Given the description of an element on the screen output the (x, y) to click on. 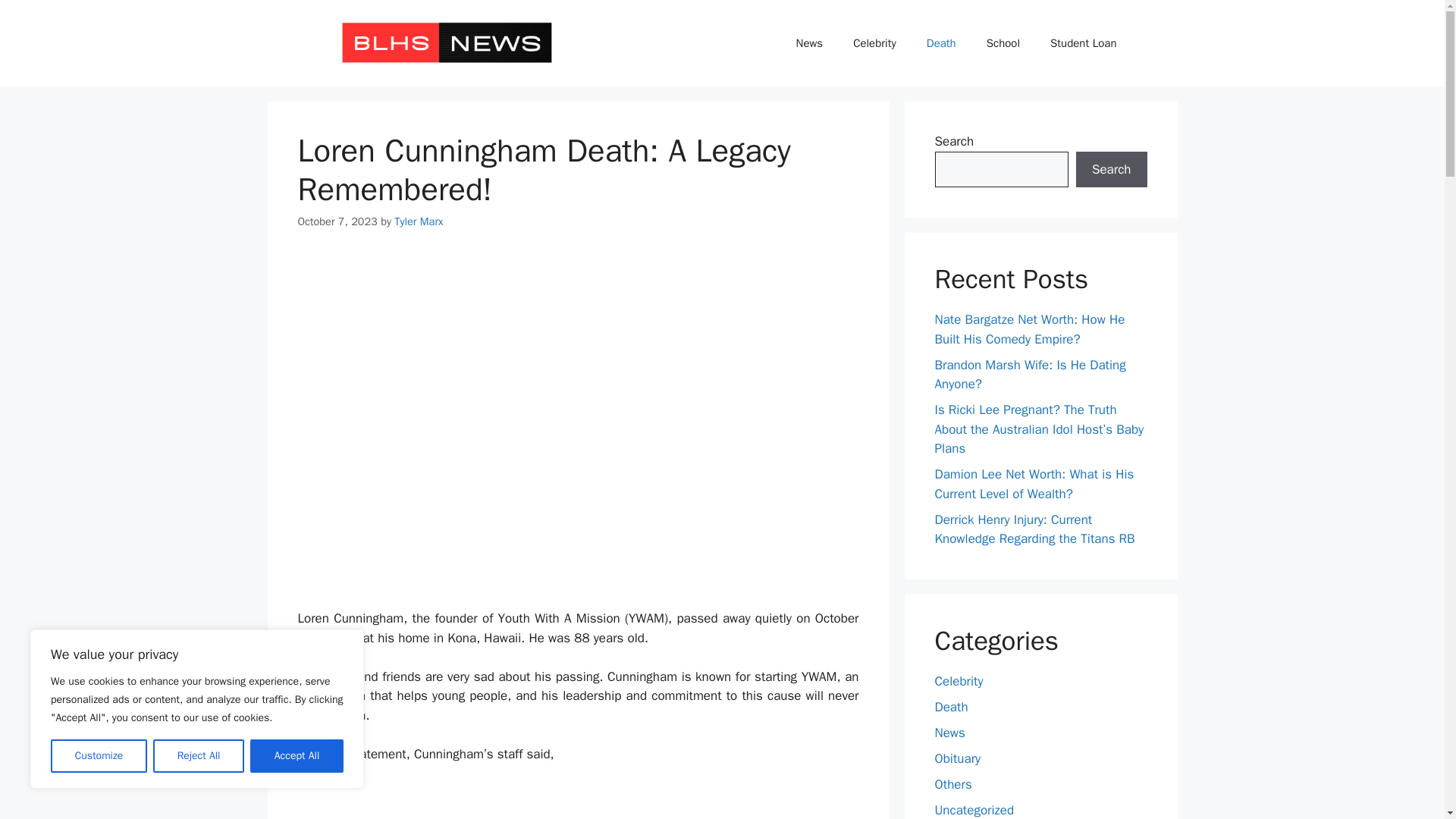
Accept All (296, 756)
Tyler Marx (418, 221)
Celebrity (874, 43)
News (809, 43)
View all posts by Tyler Marx (418, 221)
Customize (98, 756)
Search (1111, 169)
School (1003, 43)
Reject All (198, 756)
Death (941, 43)
Student Loan (1083, 43)
Nate Bargatze Net Worth: How He Built His Comedy Empire? (1029, 329)
Brandon Marsh Wife: Is He Dating Anyone? (1029, 375)
Damion Lee Net Worth: What is His Current Level of Wealth? (1034, 484)
